Given the description of an element on the screen output the (x, y) to click on. 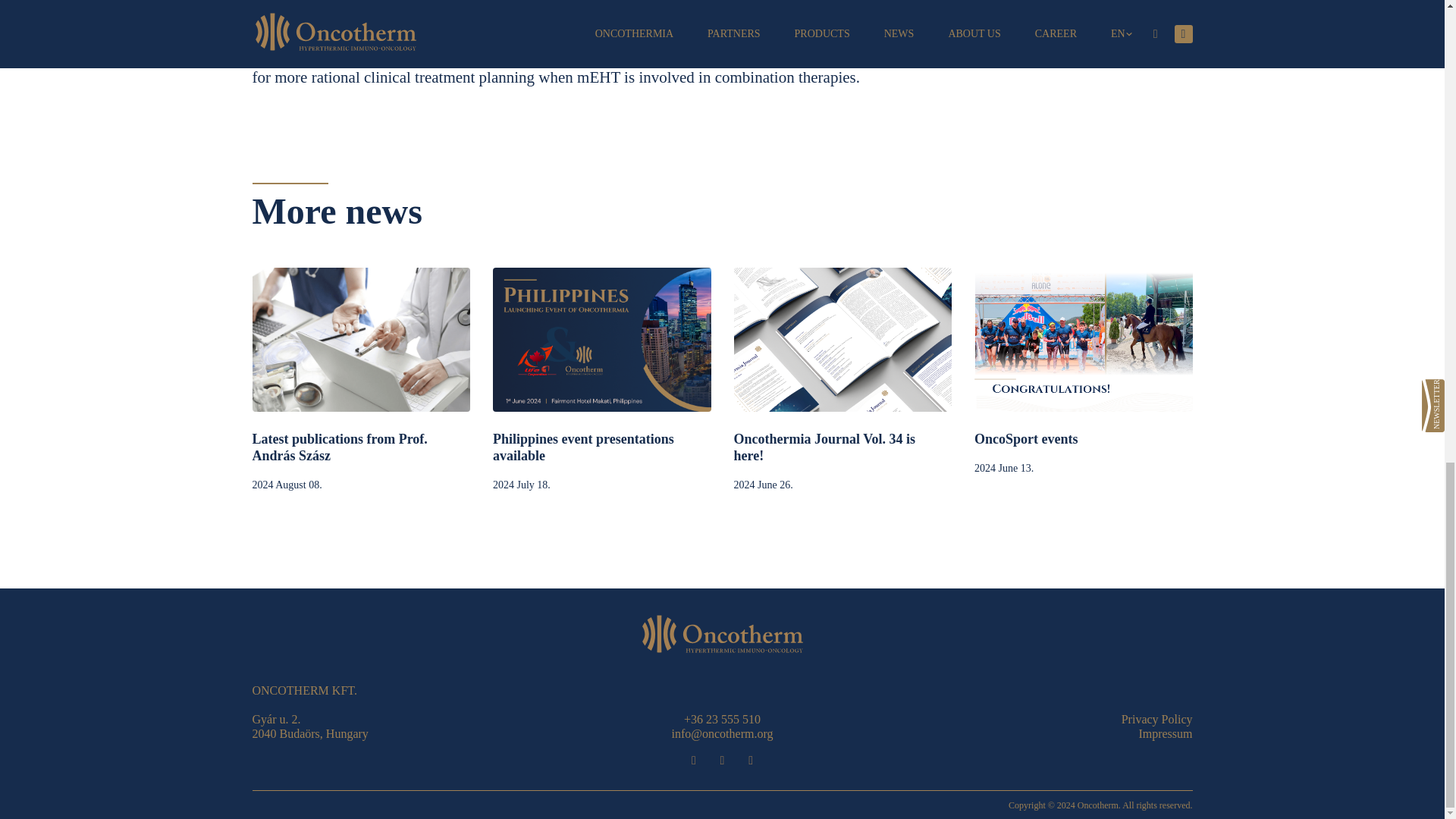
Oncotherm Kft. on Facebook (693, 760)
Oncotherm Kft. on Youtube (750, 760)
Oncotherm Kft. on Linkedin (721, 760)
